Given the description of an element on the screen output the (x, y) to click on. 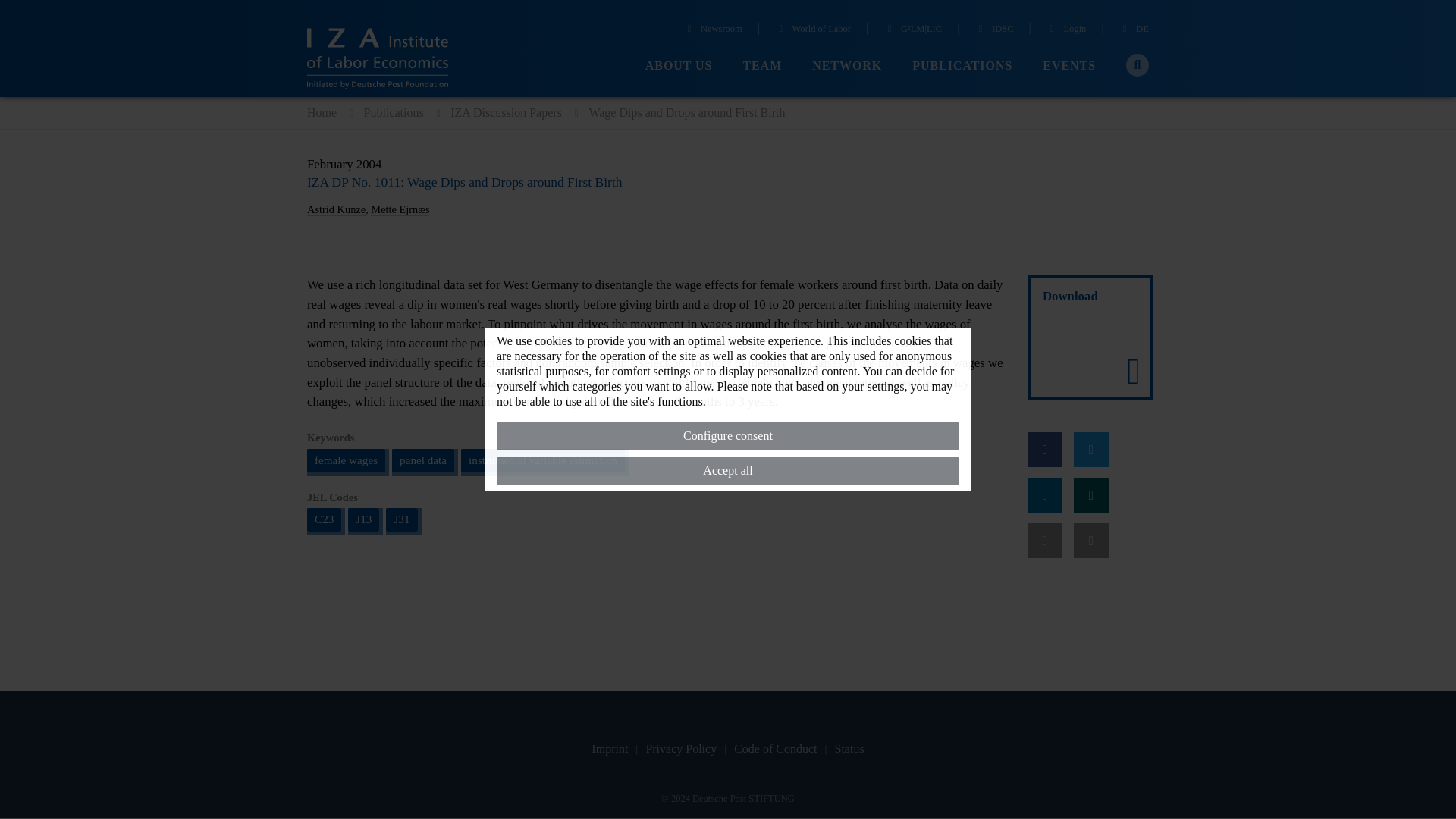
Login (1066, 30)
DE (1133, 30)
NETWORK (847, 66)
Newsroom (712, 30)
IDSC (993, 30)
World of Labor (812, 30)
PUBLICATIONS (961, 66)
ABOUT US (679, 66)
TEAM (761, 66)
EVENTS (1069, 66)
